Given the description of an element on the screen output the (x, y) to click on. 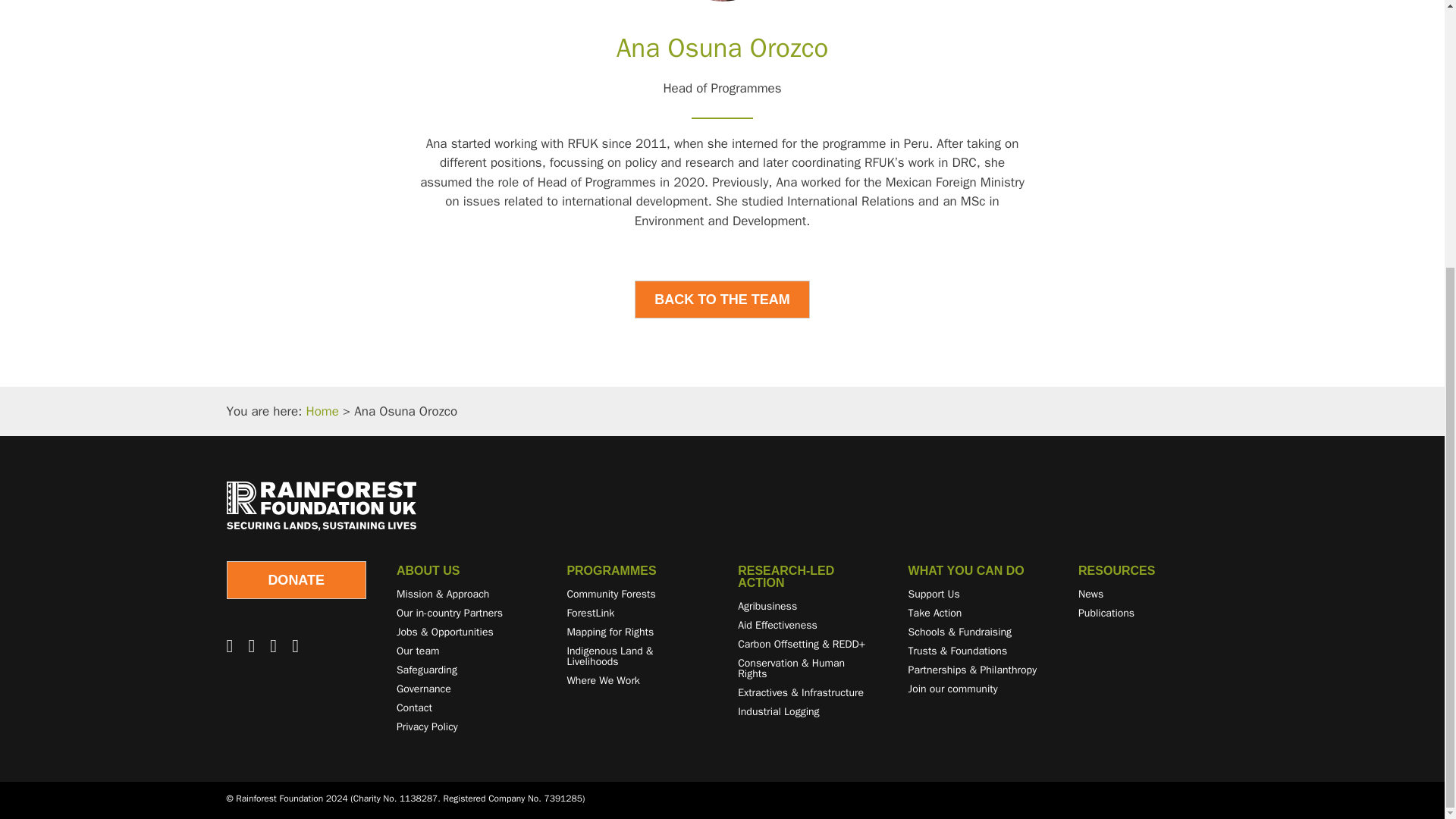
Ana Osuna Orozco (721, 0)
RFUK-logo-white (319, 505)
